Given the description of an element on the screen output the (x, y) to click on. 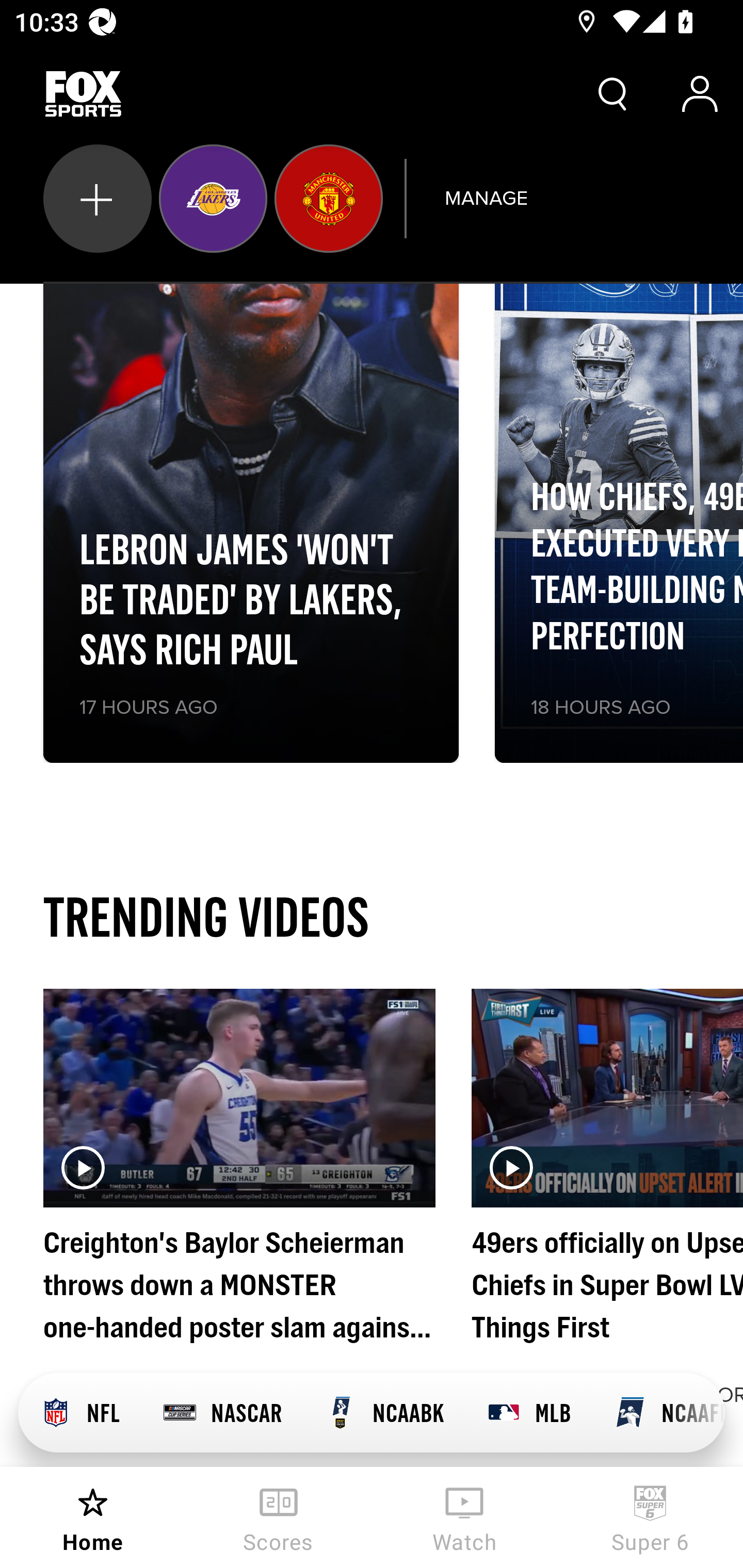
Search (612, 93)
Account (699, 93)
MANAGE (485, 198)
NFL (79, 1412)
NASCAR (222, 1412)
NCAABK (384, 1412)
MLB (528, 1412)
NCAAFB (658, 1412)
Scores (278, 1517)
Watch (464, 1517)
Super 6 (650, 1517)
